Given the description of an element on the screen output the (x, y) to click on. 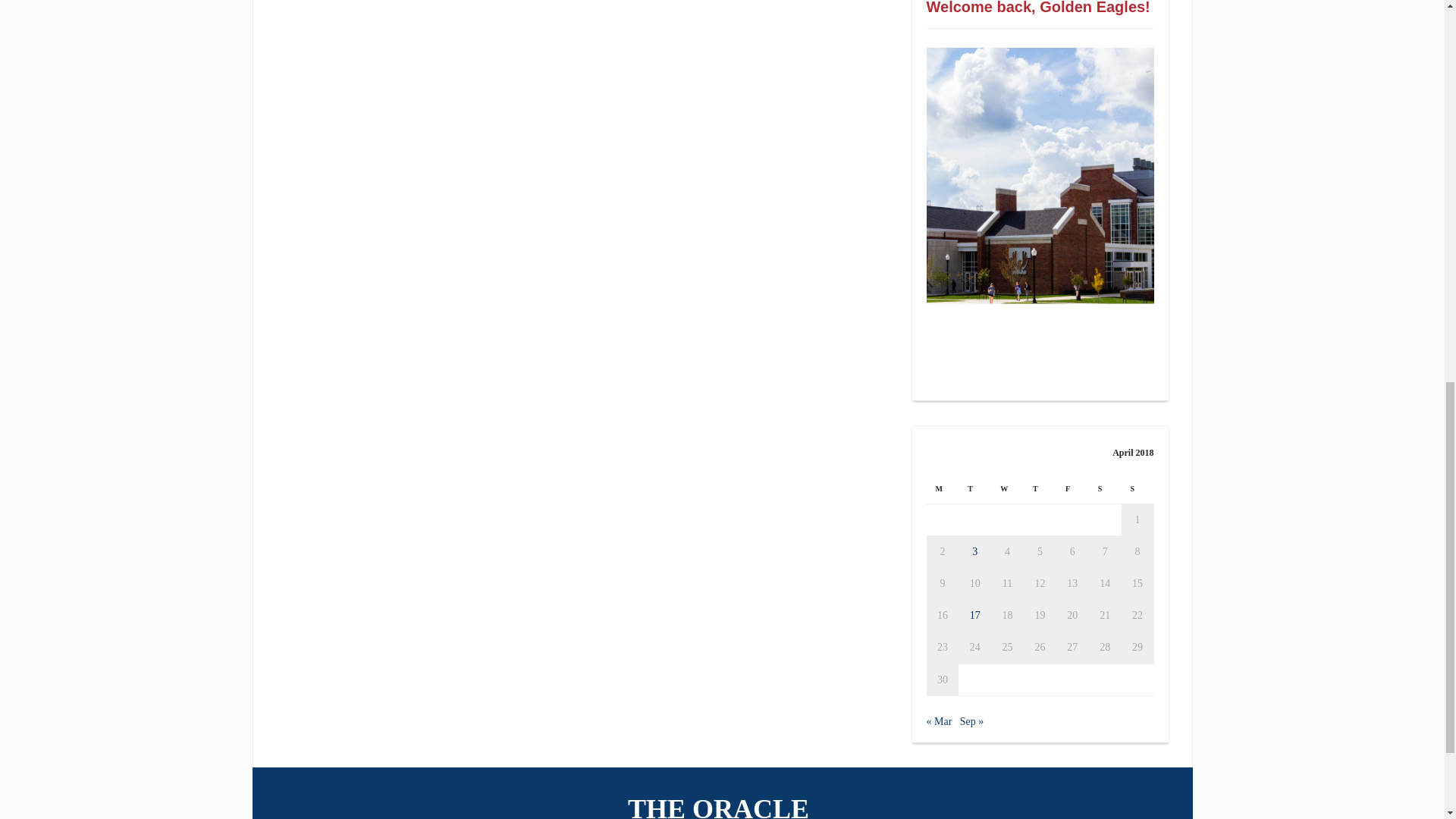
Friday (1073, 488)
THE ORACLE (721, 802)
Sunday (1137, 488)
Tuesday (974, 488)
Saturday (1105, 488)
Where Golden Eagles Fly For News (721, 802)
17 (974, 614)
Monday (942, 488)
Thursday (1040, 488)
Wednesday (1007, 488)
